Given the description of an element on the screen output the (x, y) to click on. 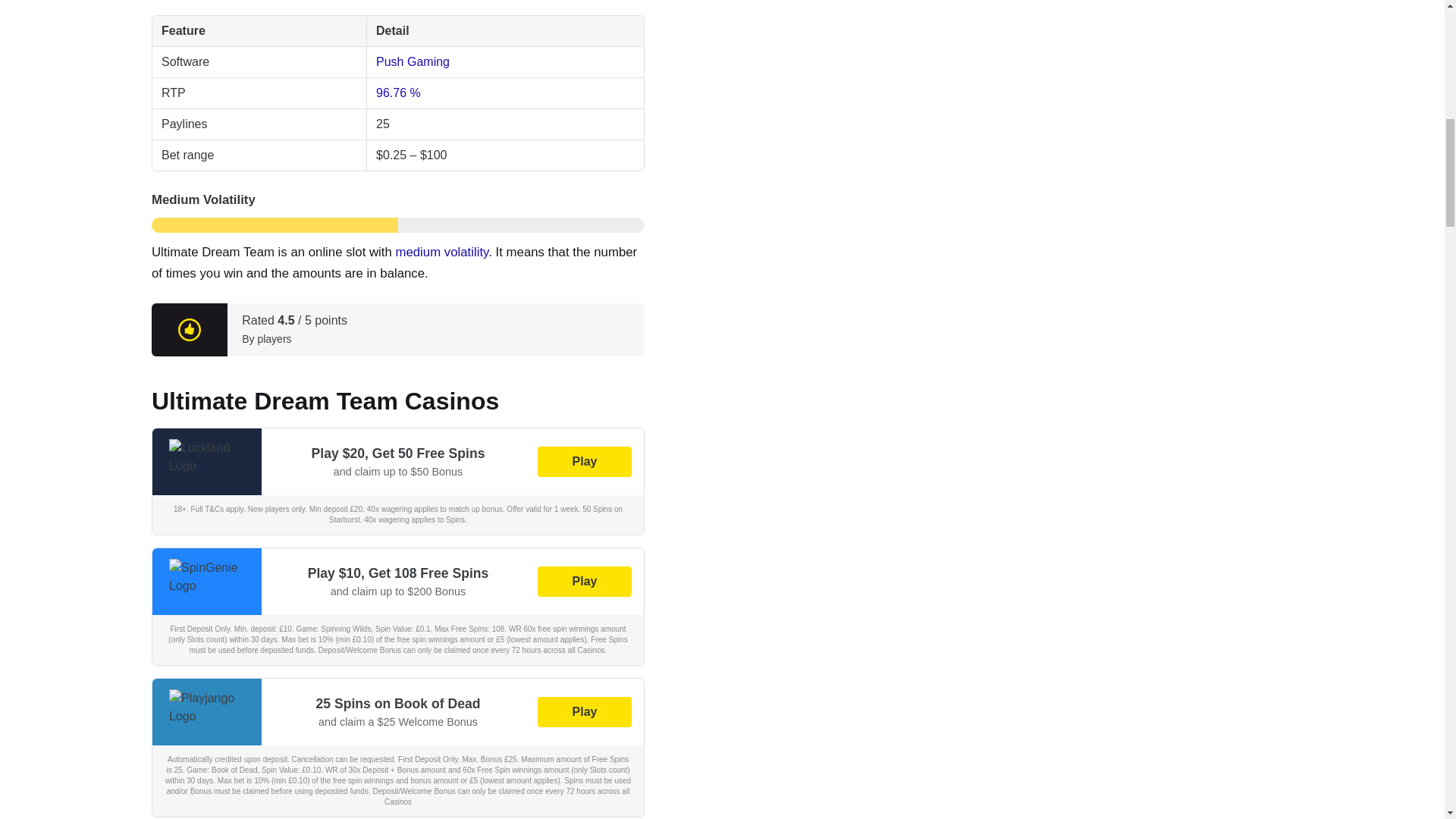
Push Gaming (412, 61)
Play (584, 581)
Play (584, 711)
Play (584, 461)
medium volatility (440, 251)
